Given the description of an element on the screen output the (x, y) to click on. 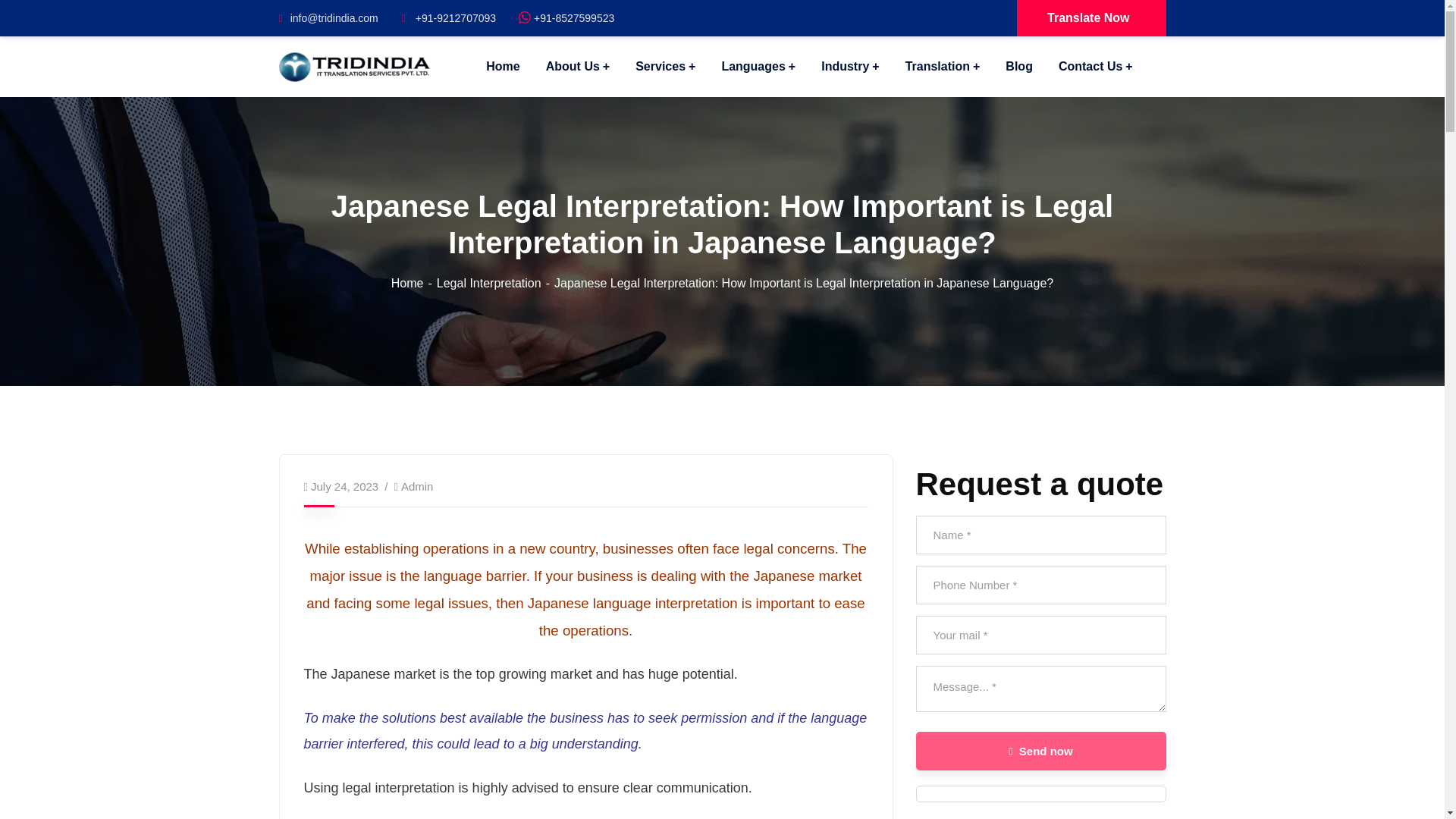
Services (664, 66)
About Us (578, 66)
Translate Now (1091, 18)
Tridindia (354, 65)
Posts by Admin (417, 486)
